Given the description of an element on the screen output the (x, y) to click on. 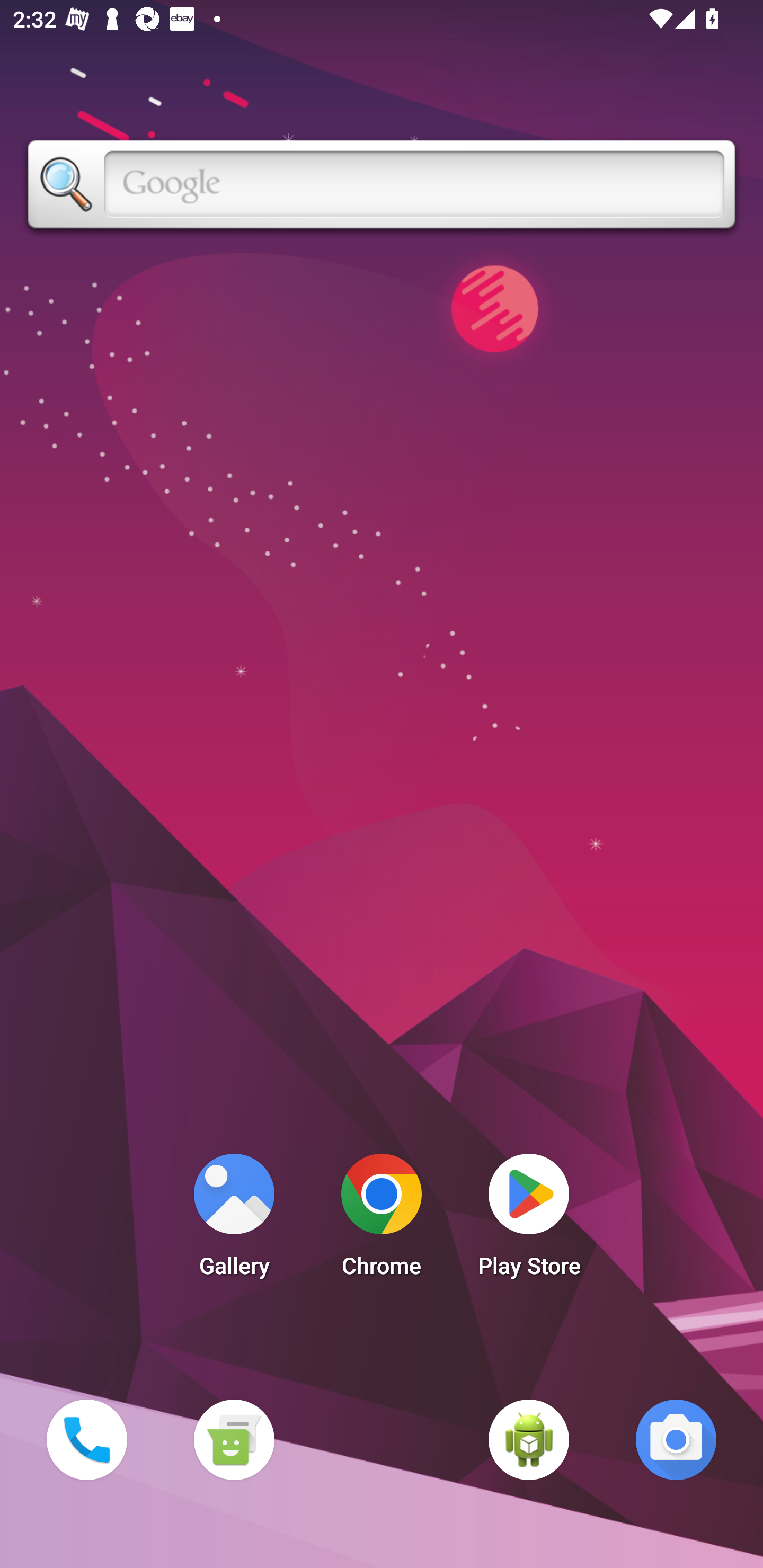
Gallery (233, 1220)
Chrome (381, 1220)
Play Store (528, 1220)
Phone (86, 1439)
Messaging (233, 1439)
WebView Browser Tester (528, 1439)
Camera (676, 1439)
